Given the description of an element on the screen output the (x, y) to click on. 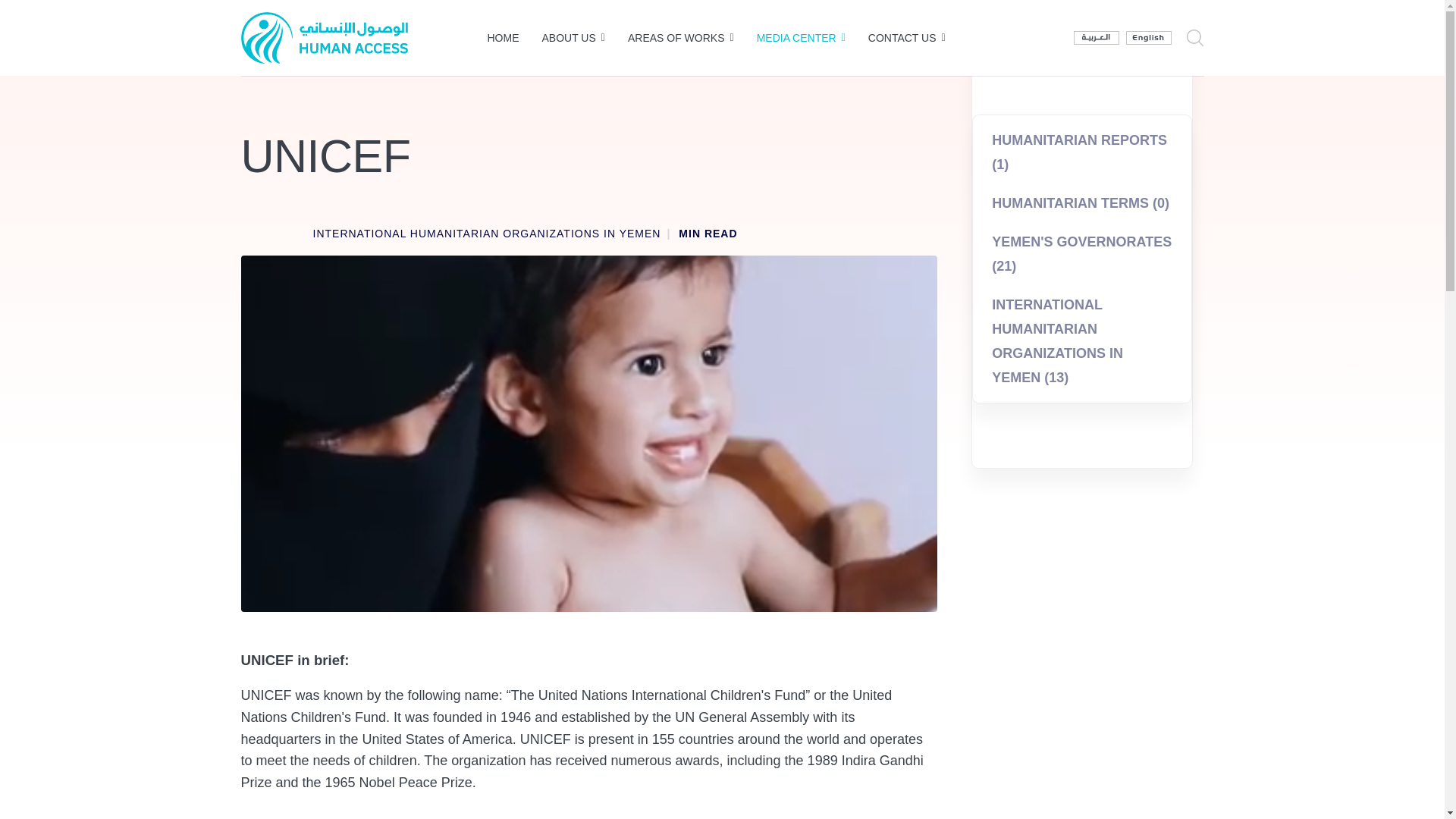
Category: International humanitarian organizations in Yemen (487, 233)
AREAS OF WORKS (680, 38)
CONTACT US (906, 38)
ABOUT US (573, 38)
MEDIA CENTER (801, 38)
INTERNATIONAL HUMANITARIAN ORGANIZATIONS IN YEMEN (487, 233)
